Given the description of an element on the screen output the (x, y) to click on. 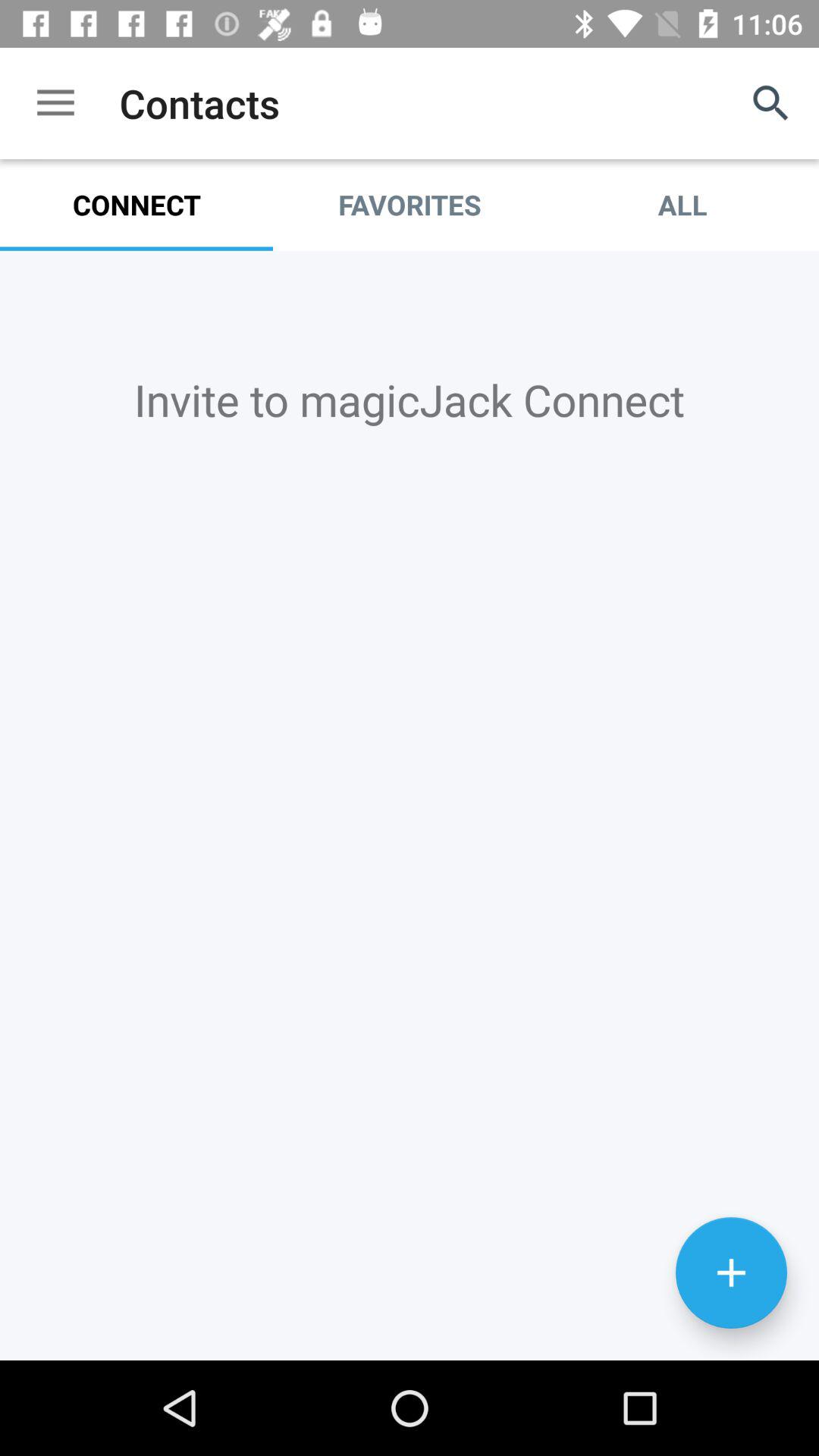
choose item to the right of the favorites (682, 204)
